Given the description of an element on the screen output the (x, y) to click on. 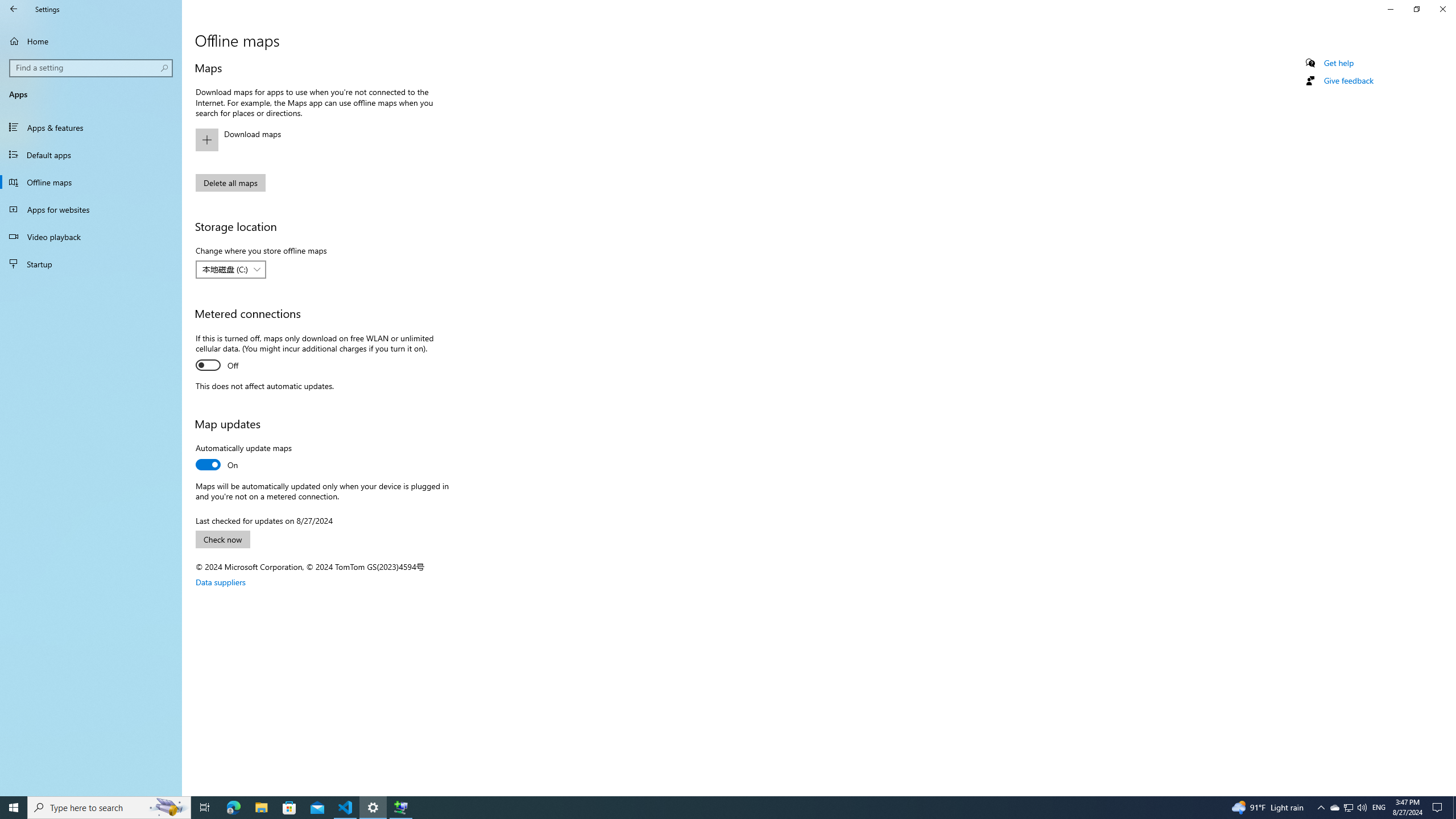
Apps for websites (91, 208)
Running applications (706, 807)
Default apps (91, 154)
Get help (1338, 62)
Video playback (91, 236)
